Given the description of an element on the screen output the (x, y) to click on. 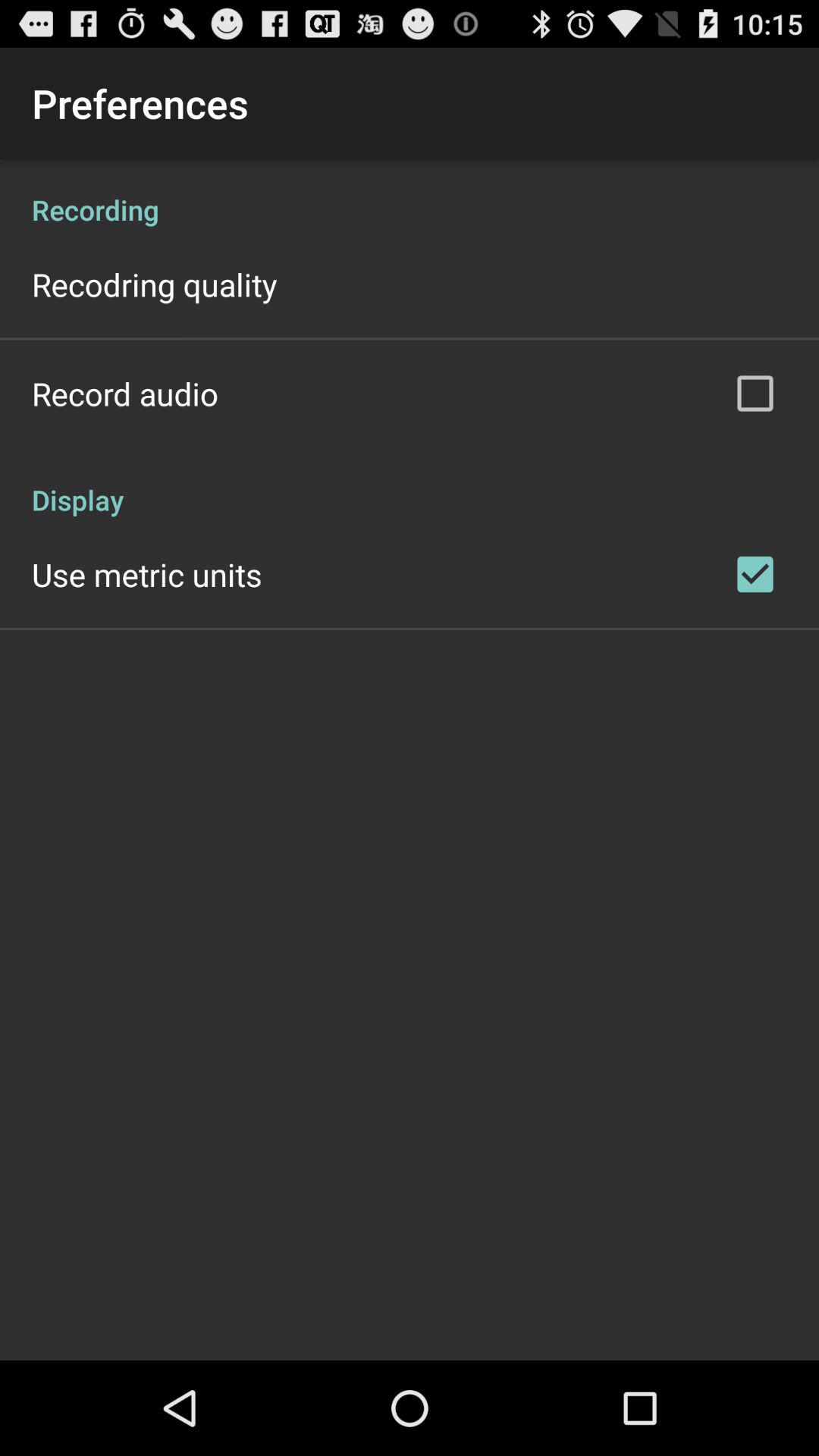
turn off the recodring quality (154, 283)
